Given the description of an element on the screen output the (x, y) to click on. 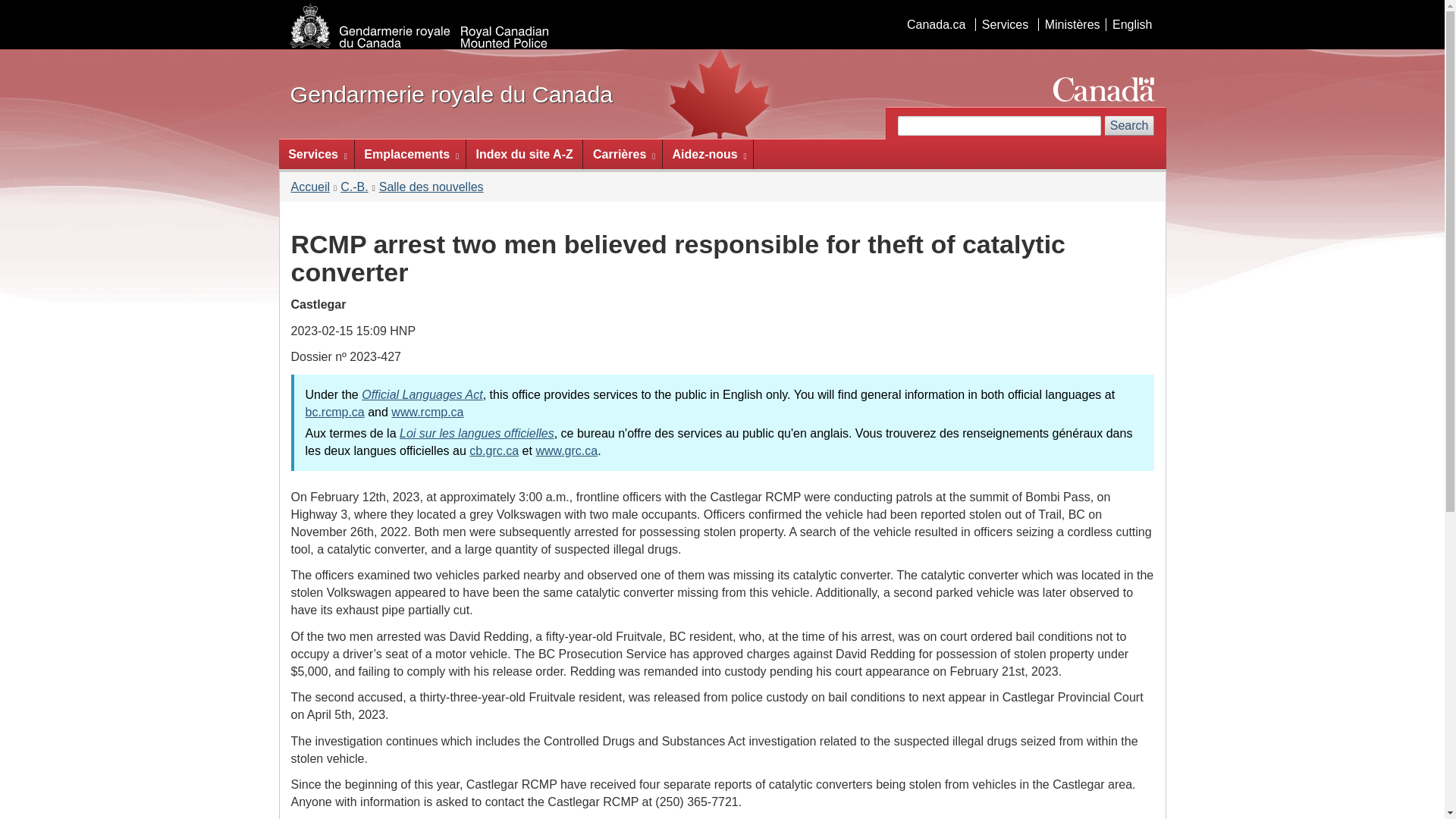
Skip to main content (725, 11)
Canada.ca (936, 24)
English (1131, 24)
Services (1004, 24)
